Given the description of an element on the screen output the (x, y) to click on. 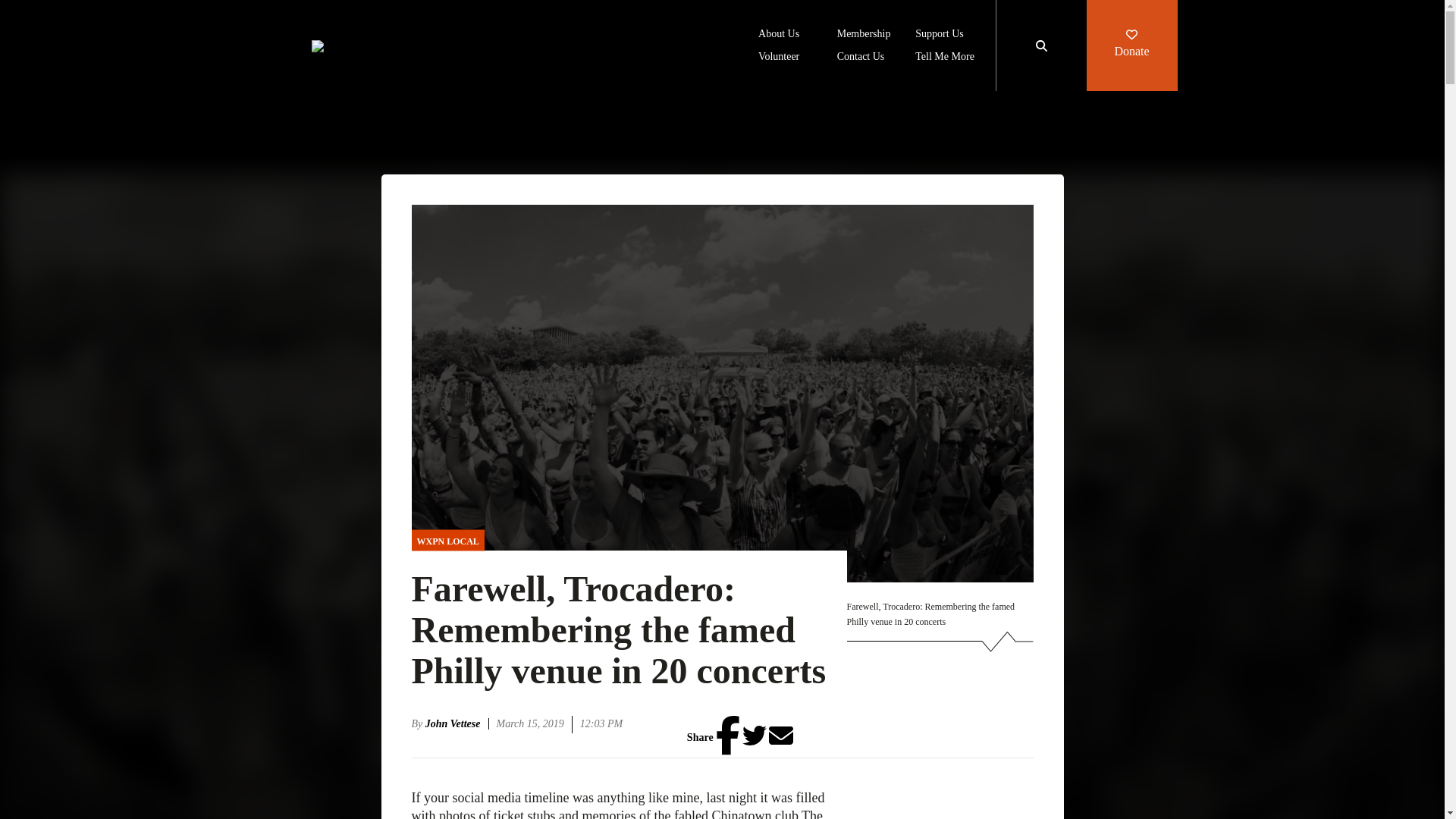
Tell Me More (944, 57)
Volunteer (778, 57)
John Vettese (457, 723)
About Us (778, 35)
Contact Us (861, 57)
Support Us (938, 35)
Donate (1131, 45)
Membership (864, 35)
